Given the description of an element on the screen output the (x, y) to click on. 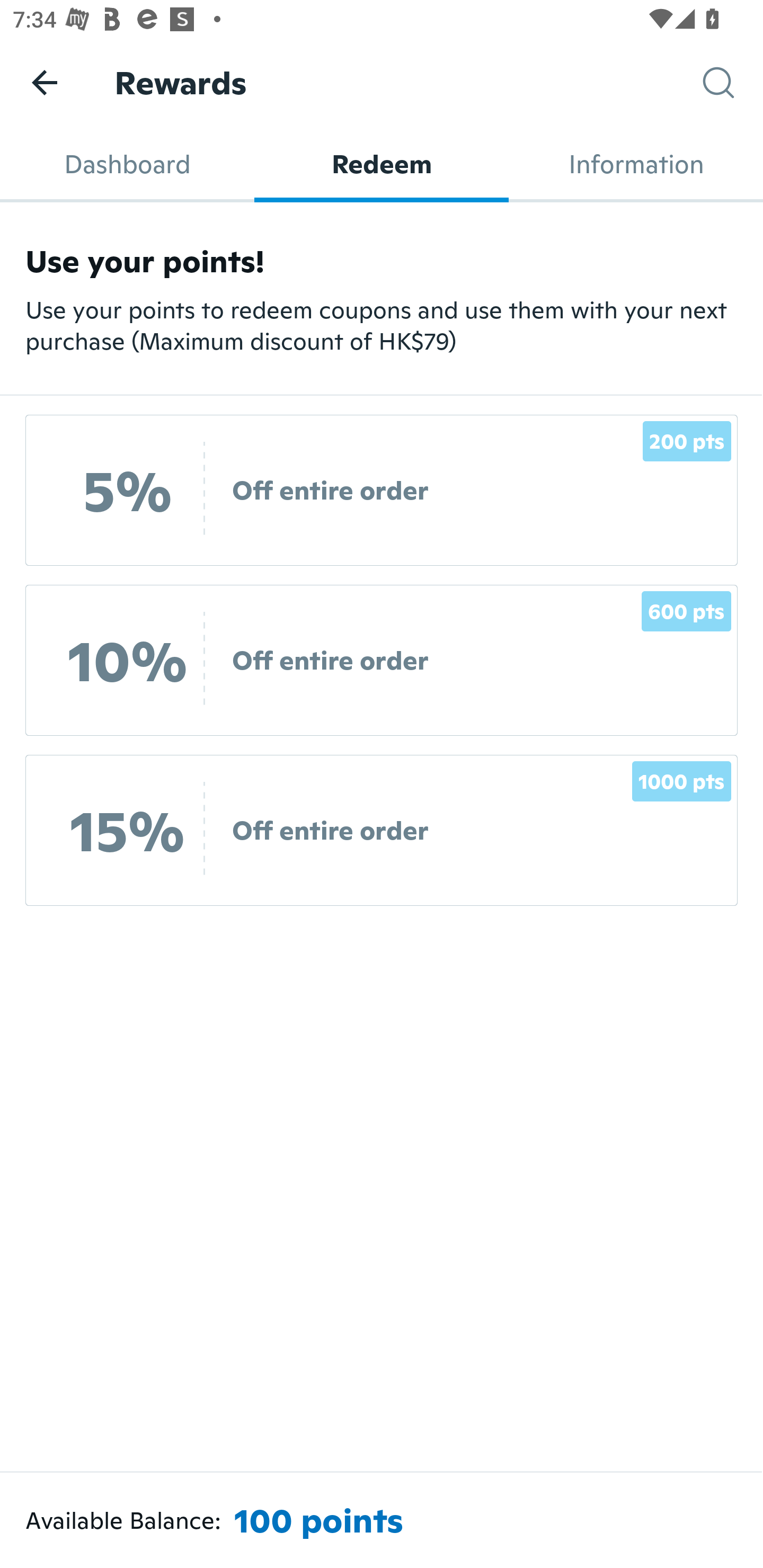
Navigate up (44, 82)
Search (732, 82)
Dashboard (127, 164)
Redeem (381, 164)
Information (635, 164)
5% 200 pts Off entire order (381, 490)
10% 600 pts Off entire order (381, 659)
15% 1000 pts Off entire order (381, 830)
